Given the description of an element on the screen output the (x, y) to click on. 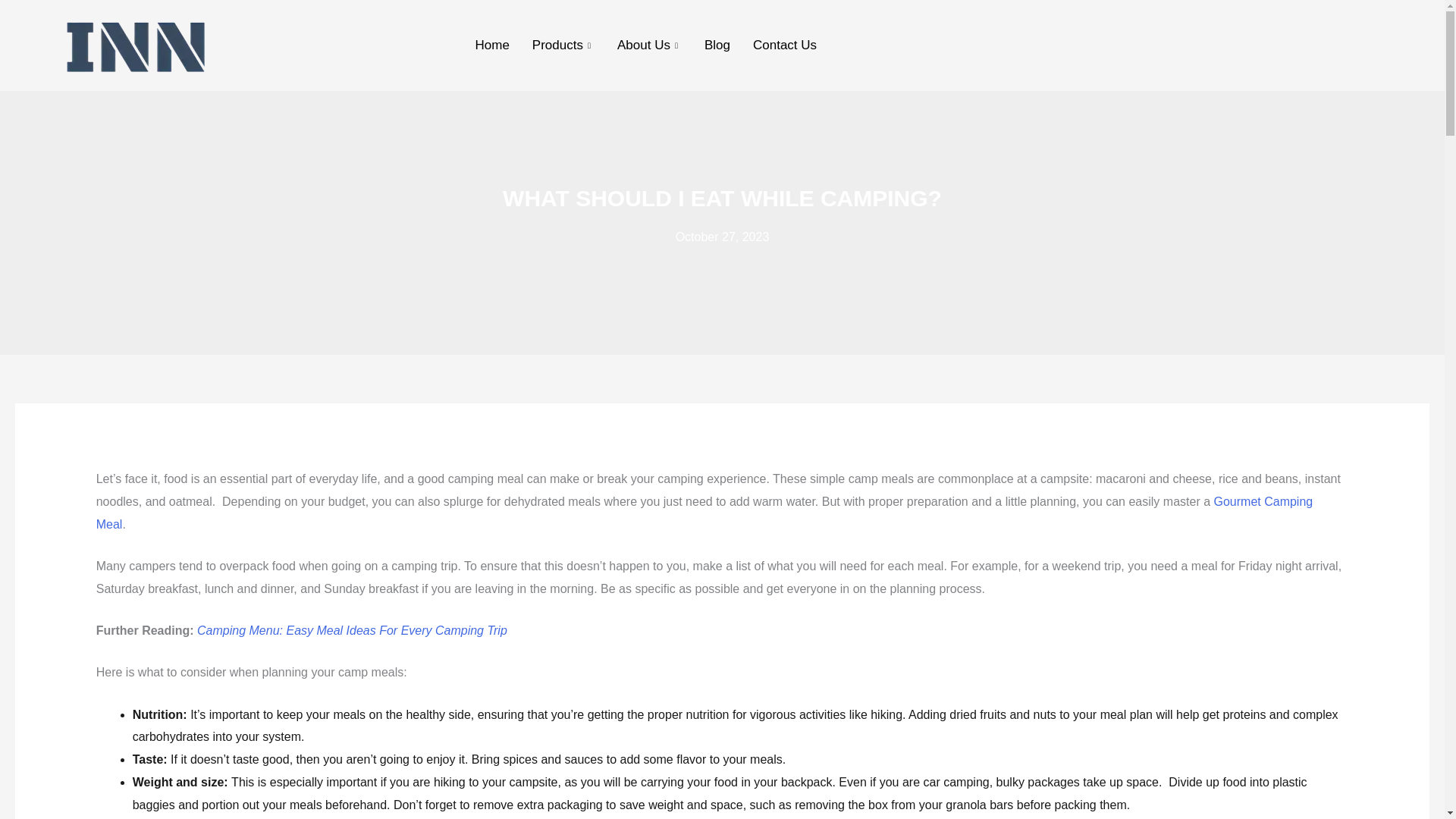
Home (492, 45)
Products (563, 45)
